Given the description of an element on the screen output the (x, y) to click on. 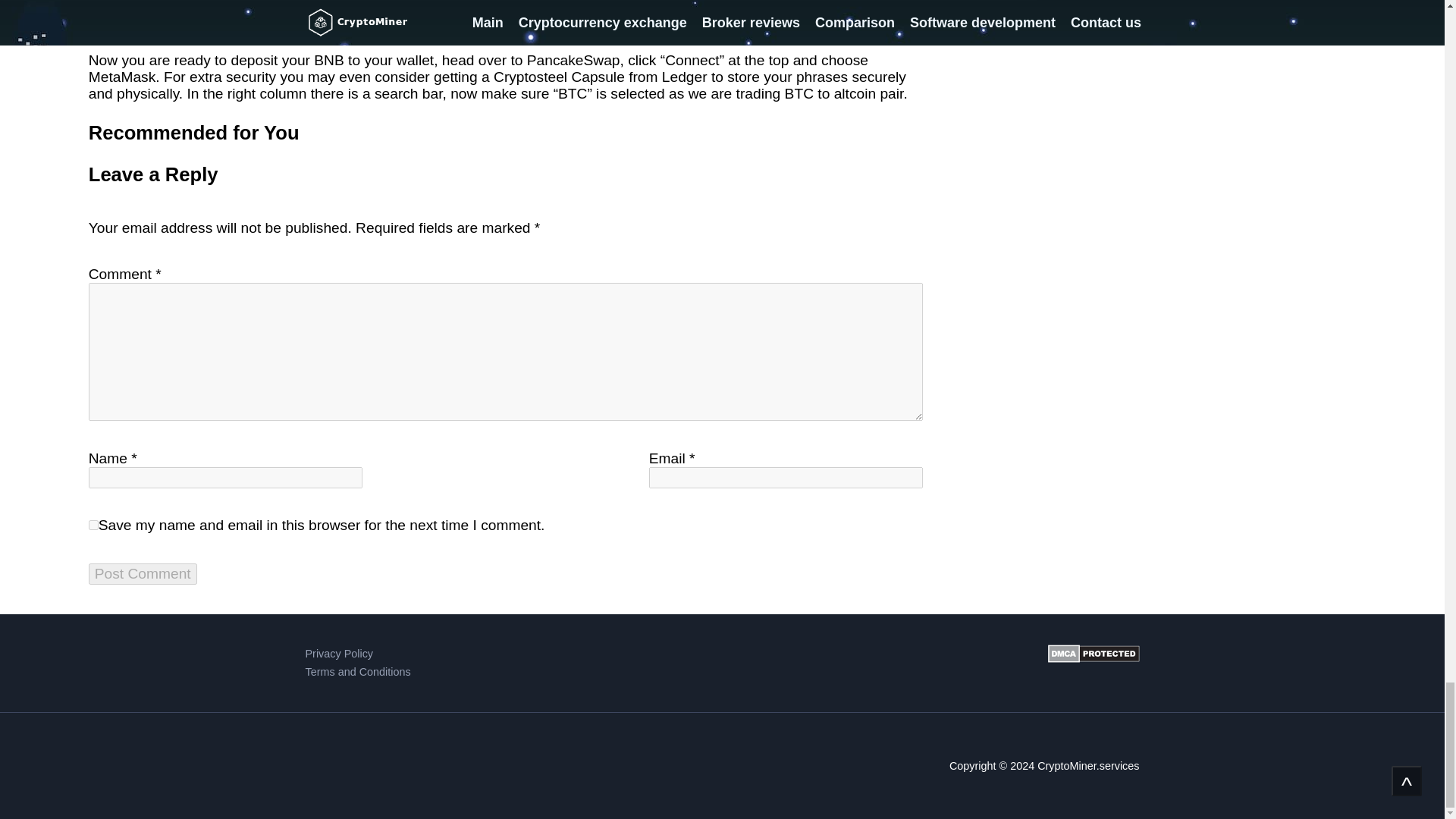
yes (93, 524)
Post Comment (142, 573)
DMCA.com Protection Status (1094, 662)
